Given the description of an element on the screen output the (x, y) to click on. 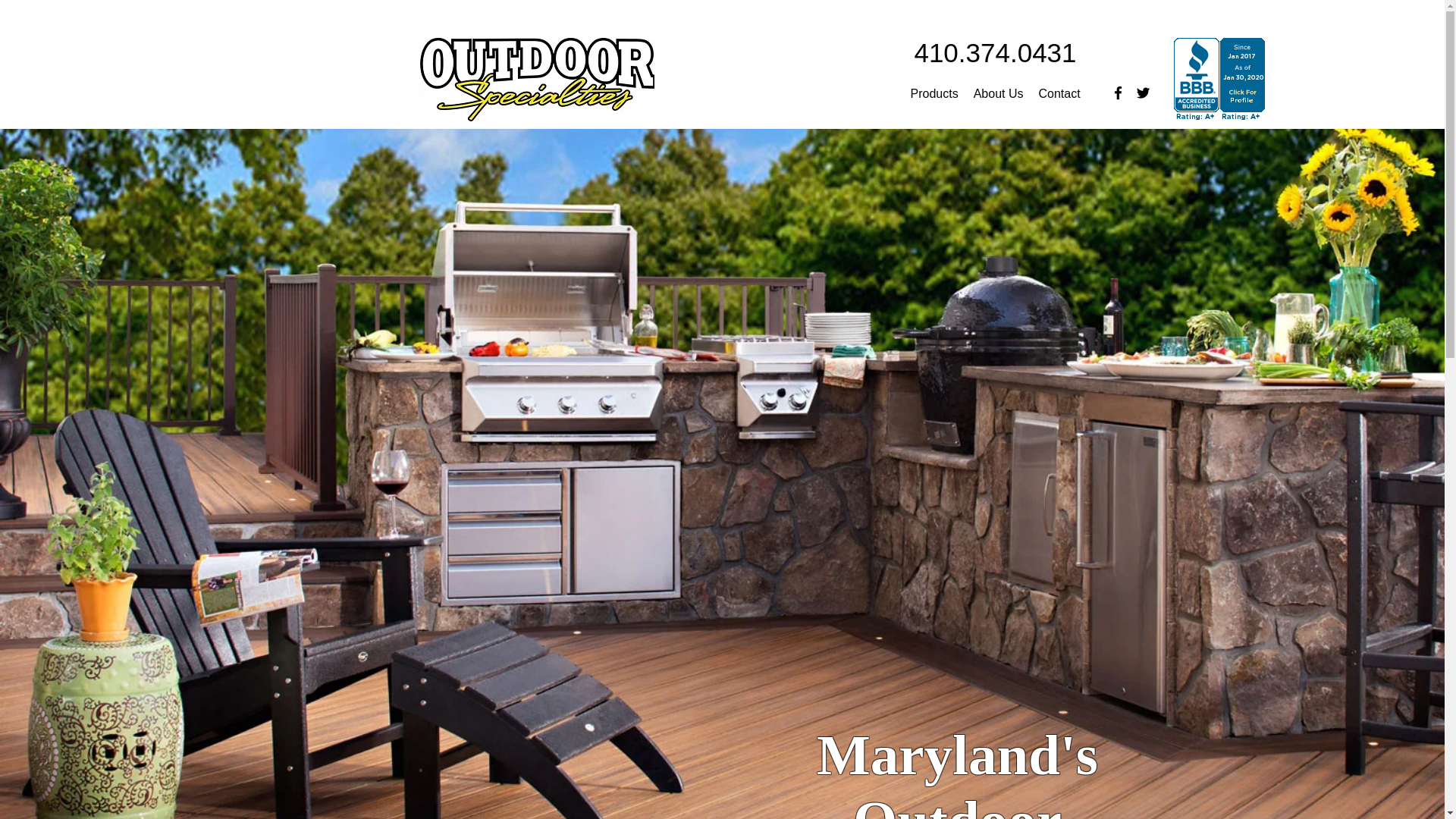
Contact (1058, 93)
About Us (998, 93)
Products (933, 93)
